Given the description of an element on the screen output the (x, y) to click on. 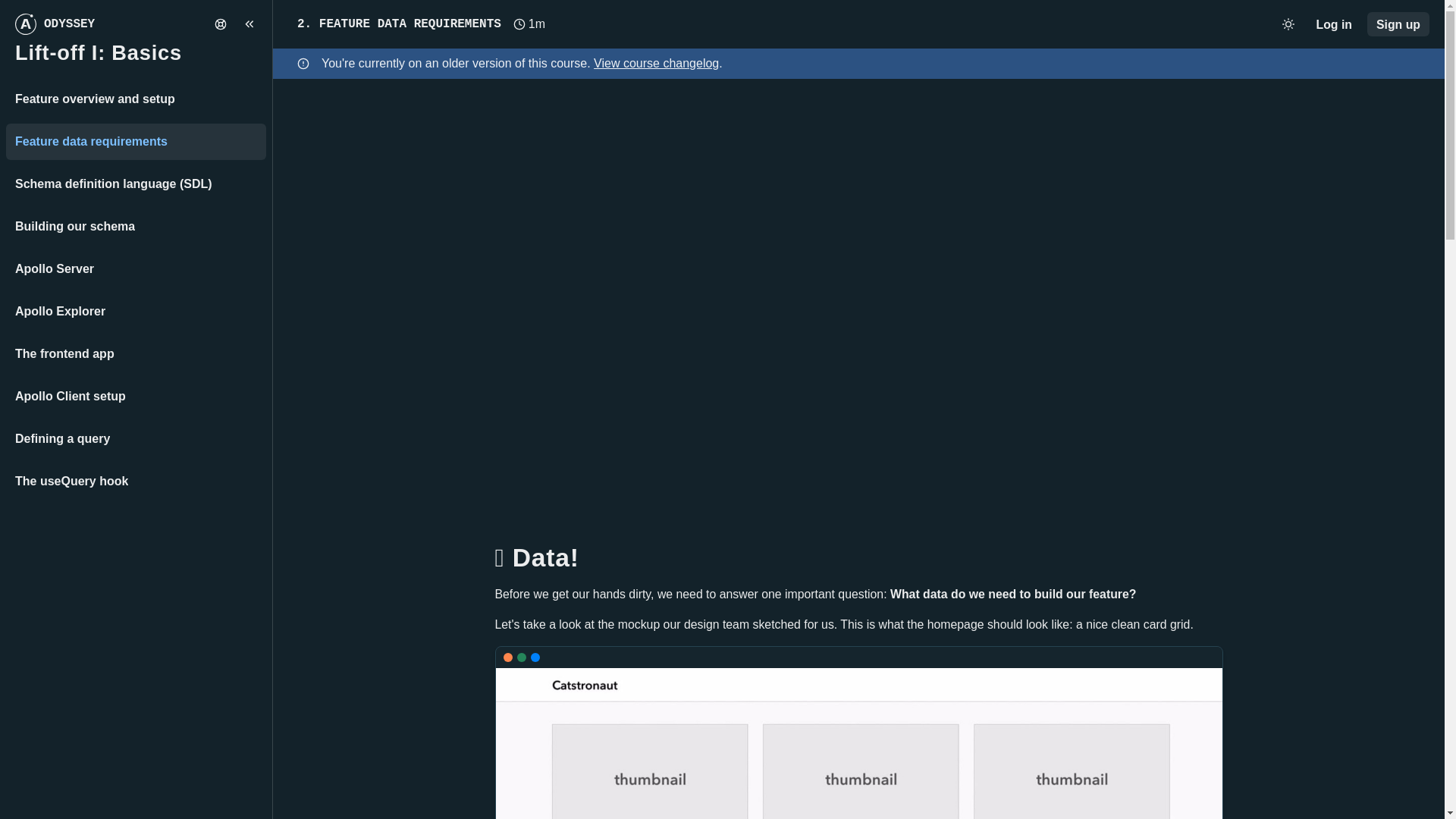
Apollo Server (135, 268)
View course changelog (656, 62)
Lift-off I: Basics (98, 52)
Apollo Client setup (135, 396)
Feature overview and setup (135, 99)
Apollo Explorer (135, 311)
Lift-off I: Basics (135, 53)
Feature data requirements (135, 141)
The useQuery hook (135, 481)
